Given the description of an element on the screen output the (x, y) to click on. 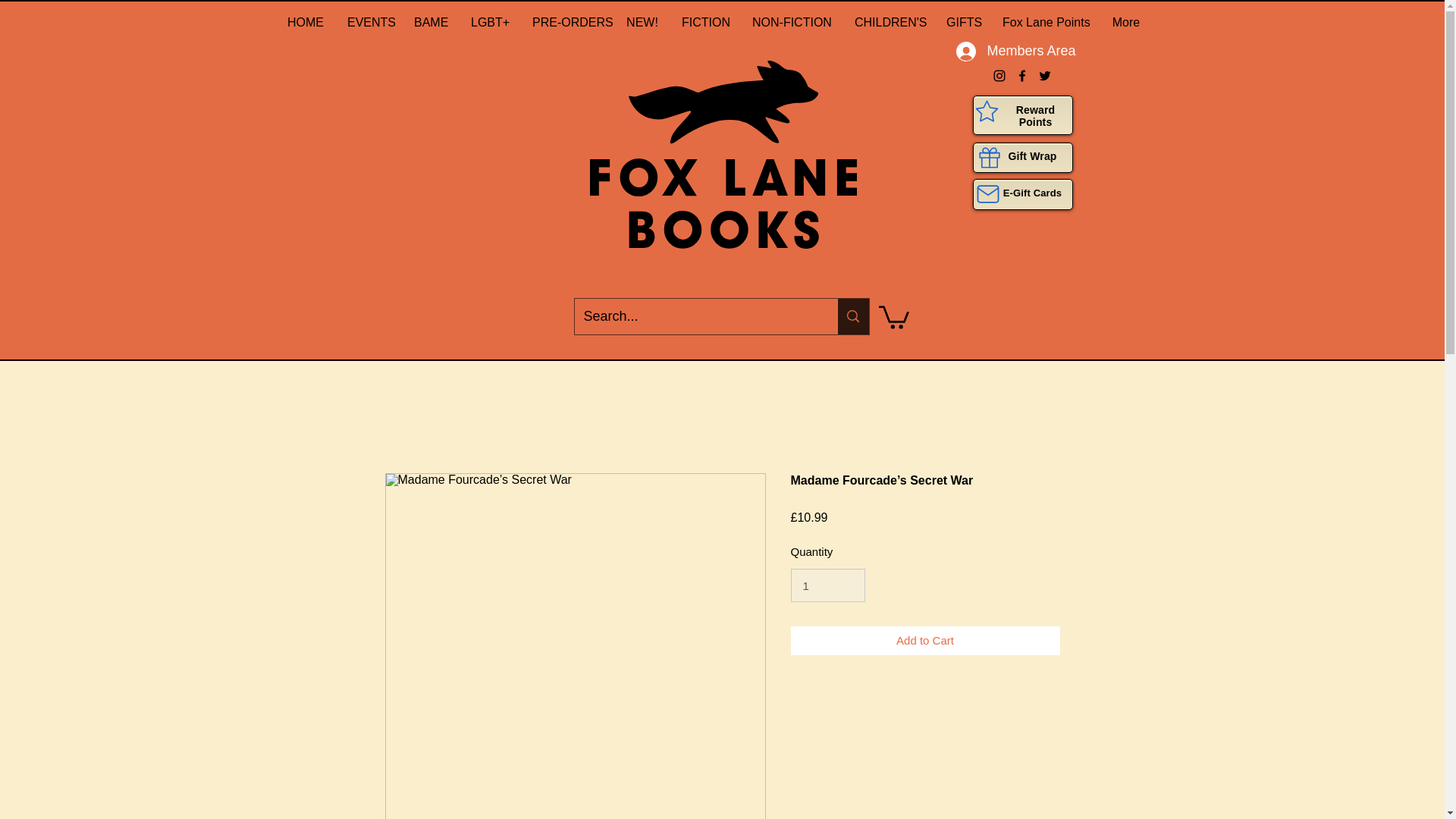
NON-FICTION (791, 22)
PRE-ORDERS (566, 22)
HOME (304, 22)
1 (827, 584)
FICTION (704, 22)
BAME (429, 22)
NEW! (641, 22)
